Given the description of an element on the screen output the (x, y) to click on. 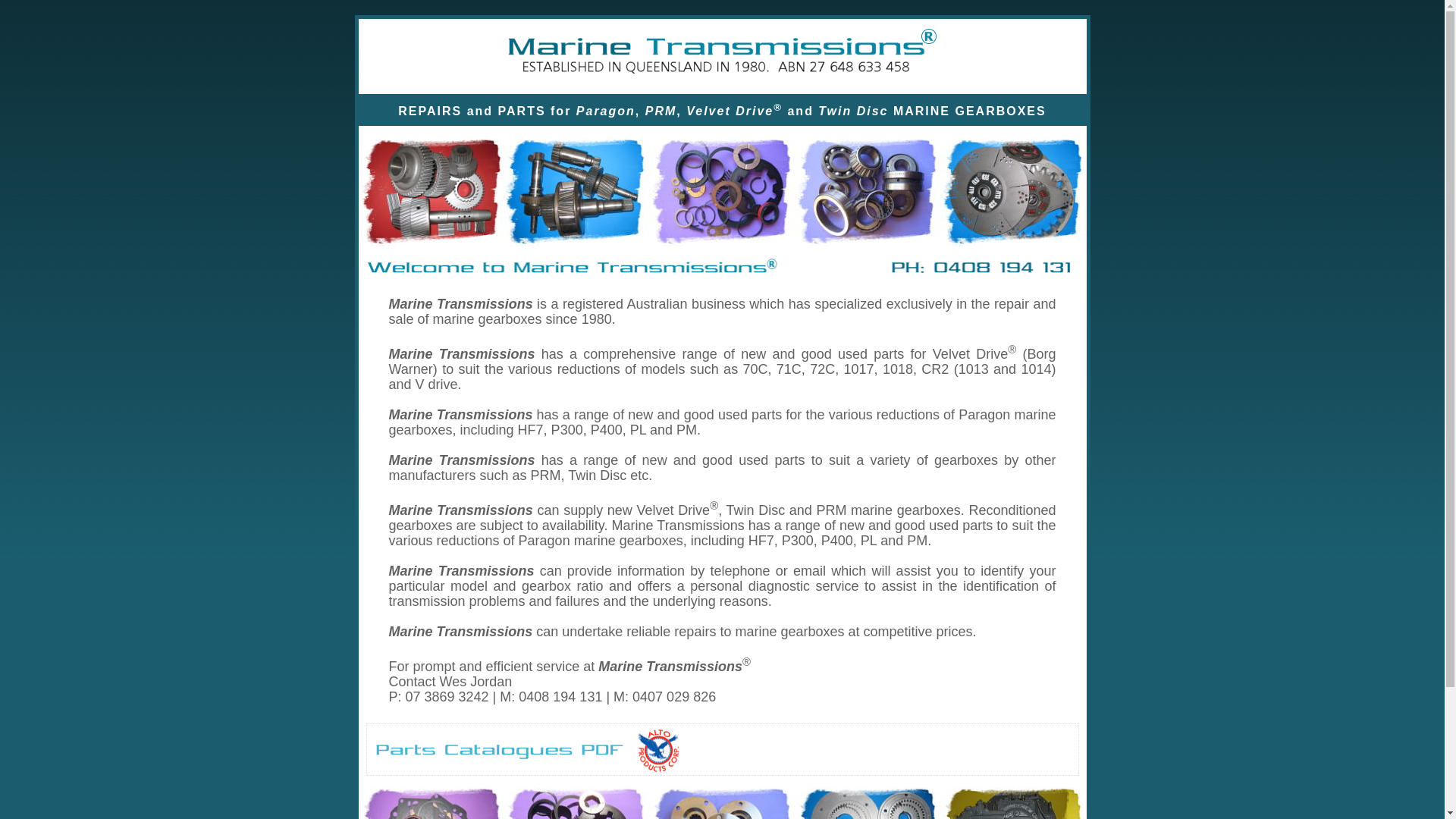
Products Element type: hover (721, 189)
Product Catalogues PDF Element type: hover (499, 750)
Alto Products Corp PDF - Click to download Element type: hover (657, 750)
